Given the description of an element on the screen output the (x, y) to click on. 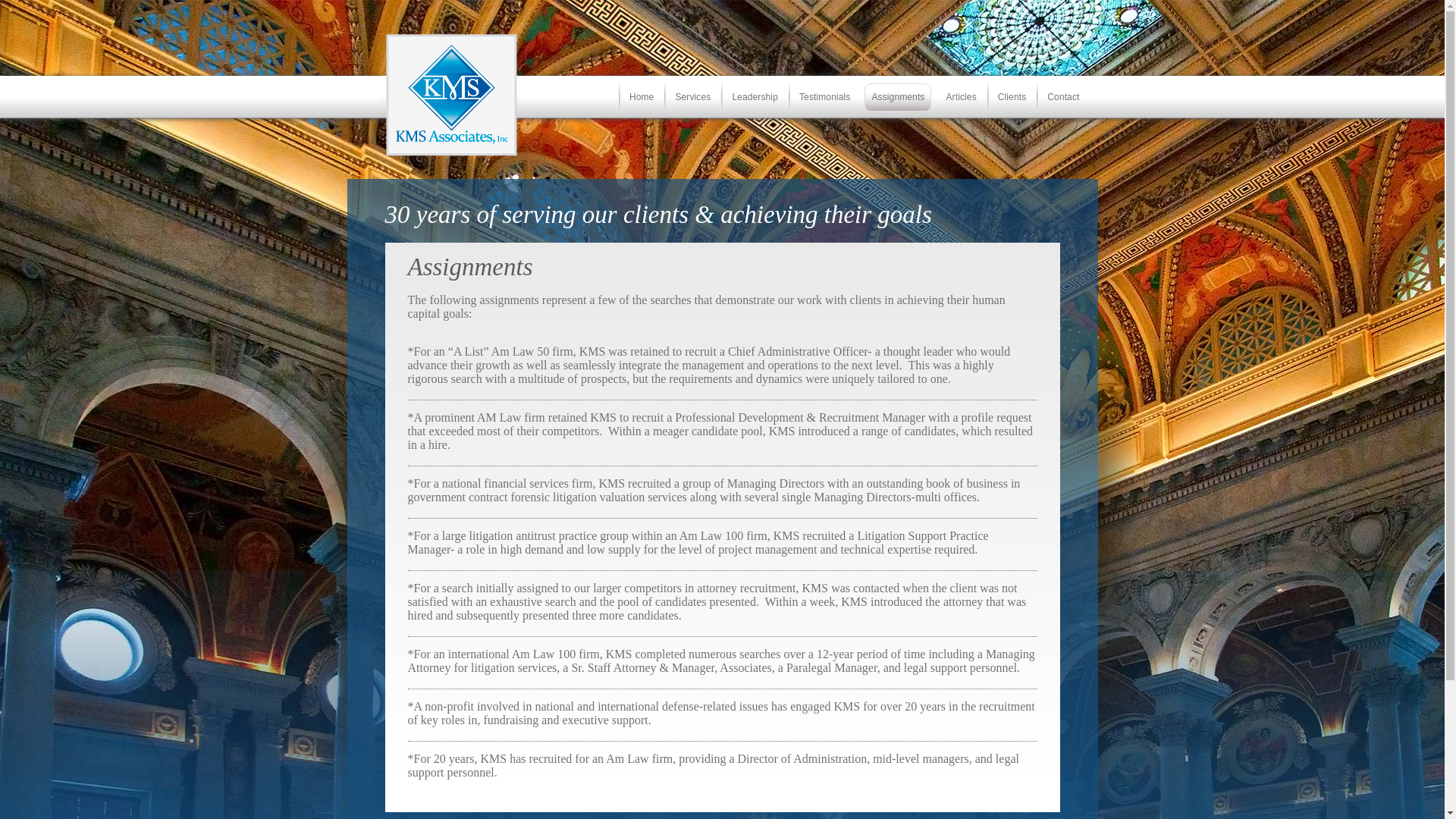
Leadership (754, 103)
Home (642, 103)
Clients (1012, 103)
Testimonials (824, 103)
Contact (1063, 103)
Assignments (897, 97)
Services (692, 103)
Articles (960, 103)
